Given the description of an element on the screen output the (x, y) to click on. 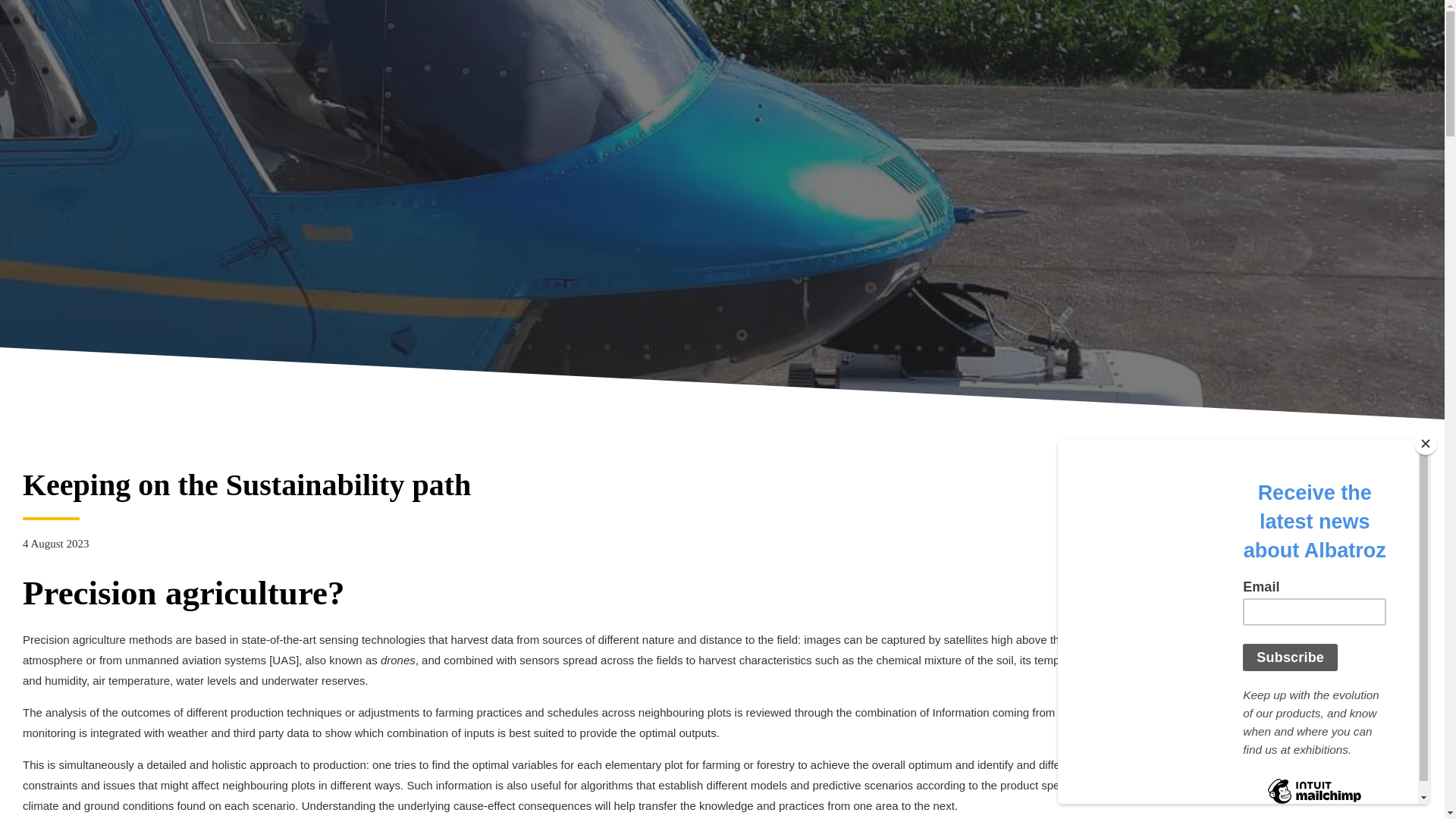
July-September 2019 (1330, 625)
Newsletter (1272, 474)
AI on Forests: making sense on heaps of data (1330, 517)
Permanent Link to July-September 2019 (1330, 625)
